Given the description of an element on the screen output the (x, y) to click on. 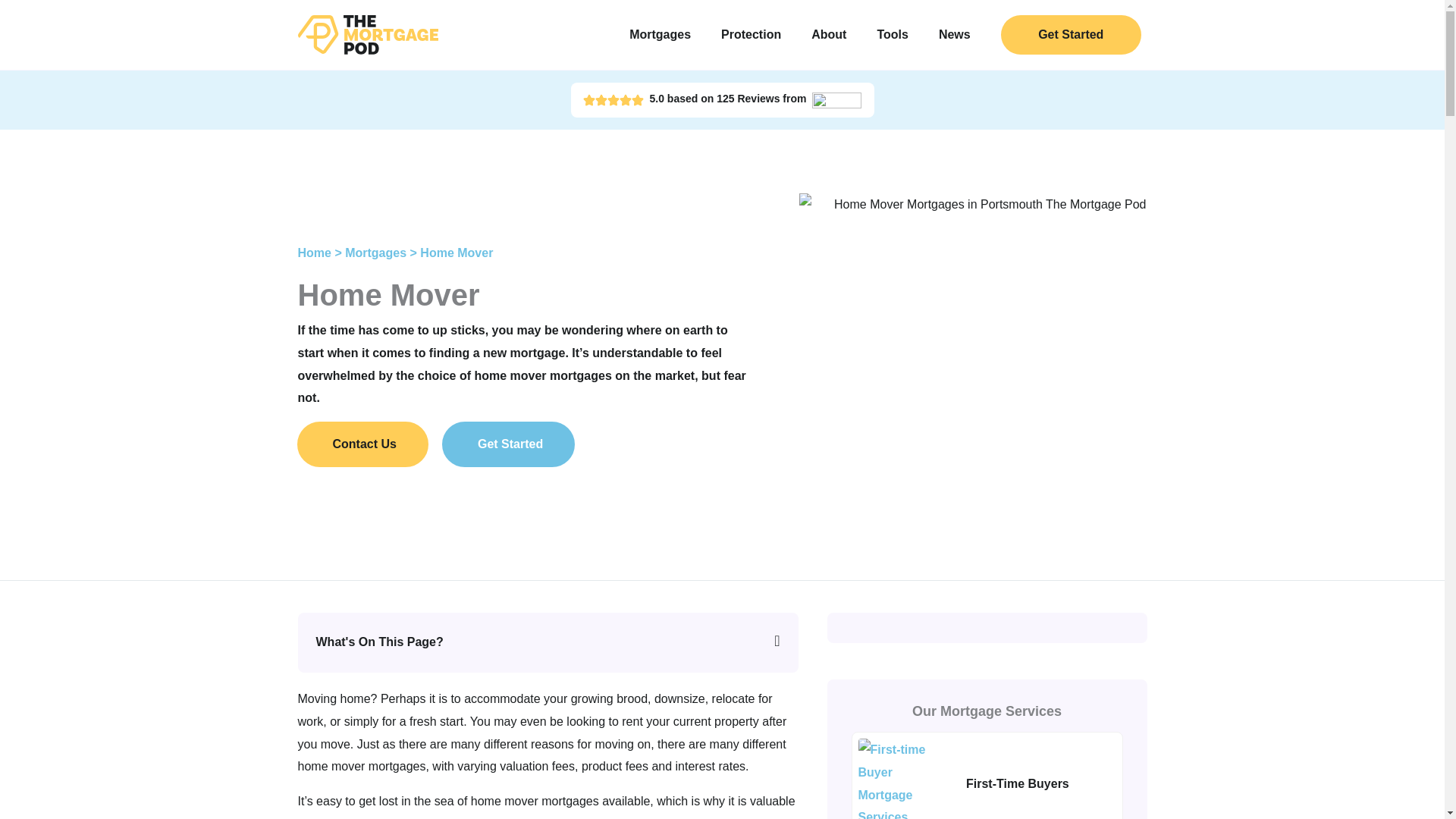
Tools (892, 34)
Protection (751, 34)
Mortgages (660, 34)
News (954, 34)
About (828, 34)
